Given the description of an element on the screen output the (x, y) to click on. 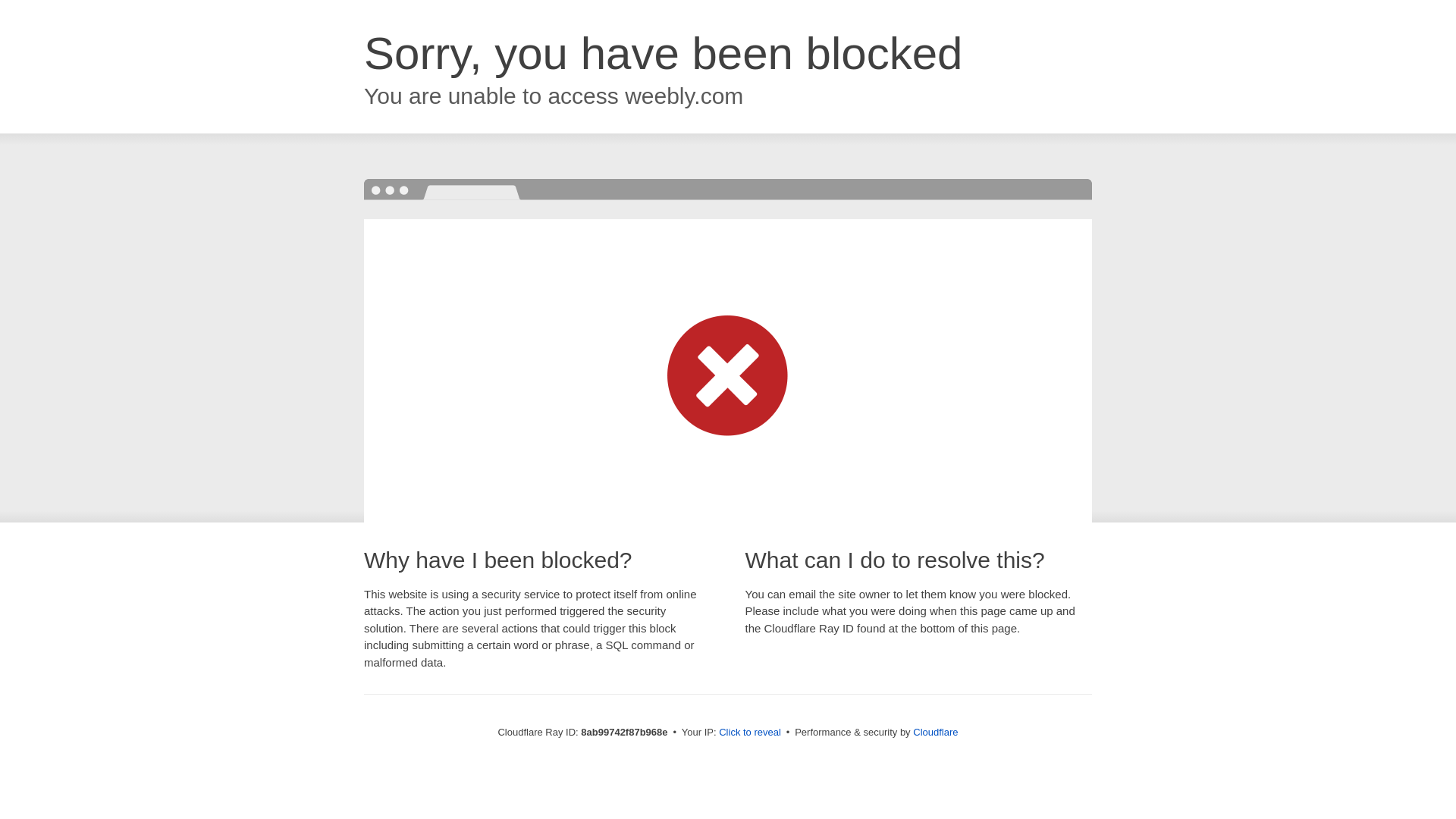
Cloudflare (935, 731)
Click to reveal (749, 732)
